Given the description of an element on the screen output the (x, y) to click on. 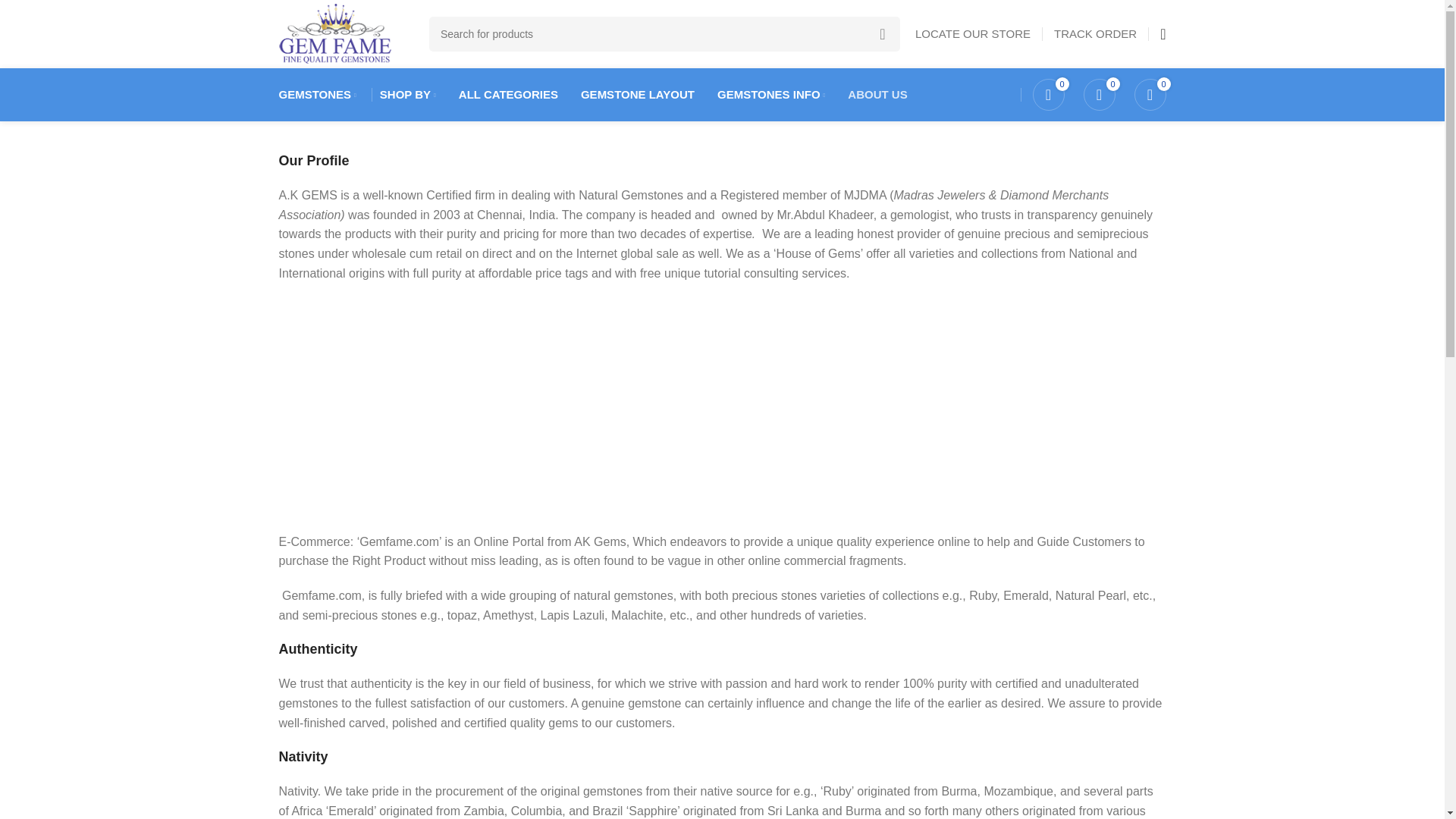
GEMSTONES (317, 94)
My Wishlist (1048, 94)
LOCATE OUR STORE (972, 33)
Compare products (1098, 94)
TRACK ORDER (1095, 33)
Shopping cart (1149, 94)
SEARCH (881, 33)
Search for products (664, 33)
